Given the description of an element on the screen output the (x, y) to click on. 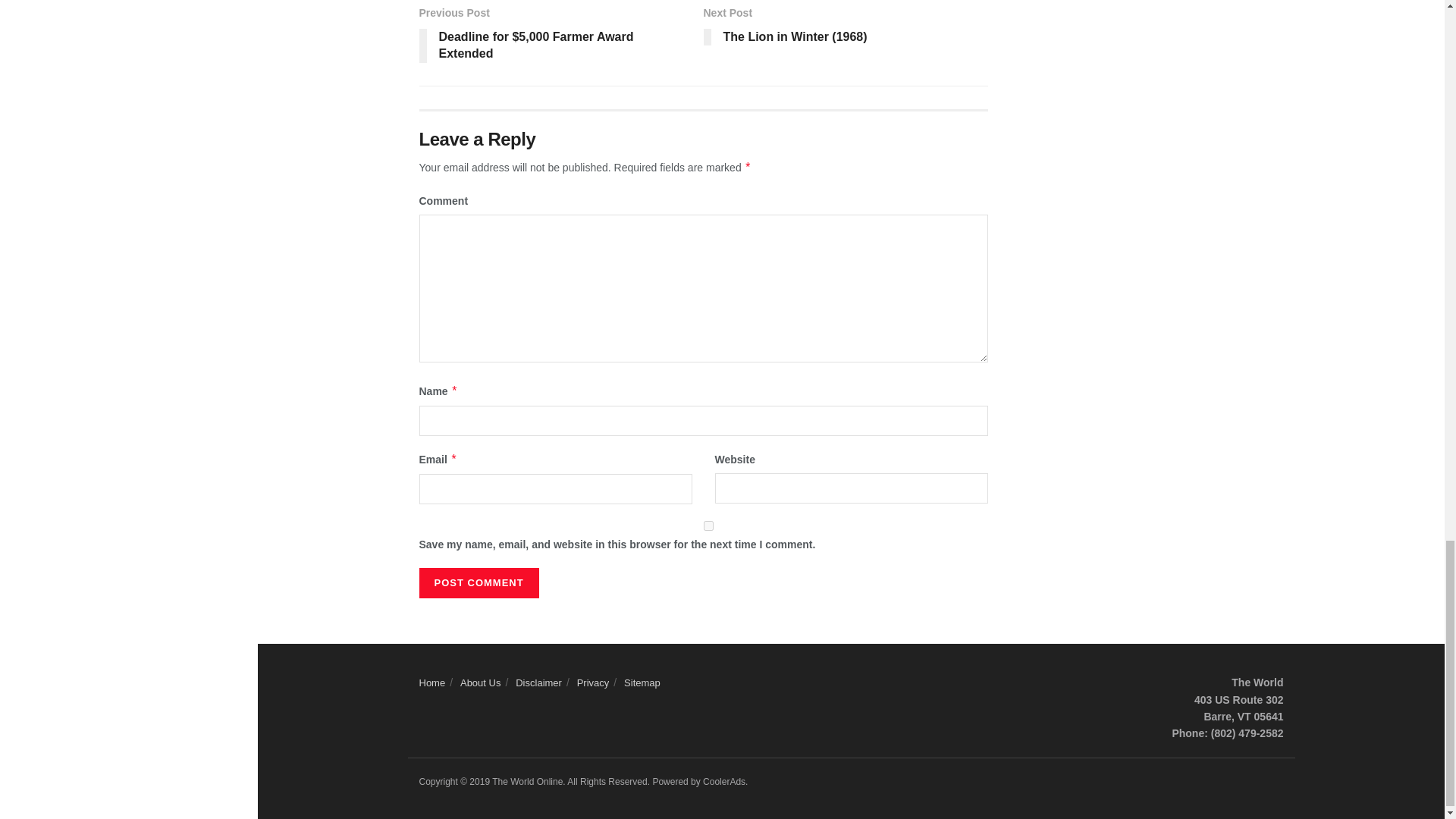
Post Comment (478, 583)
yes (708, 525)
